Given the description of an element on the screen output the (x, y) to click on. 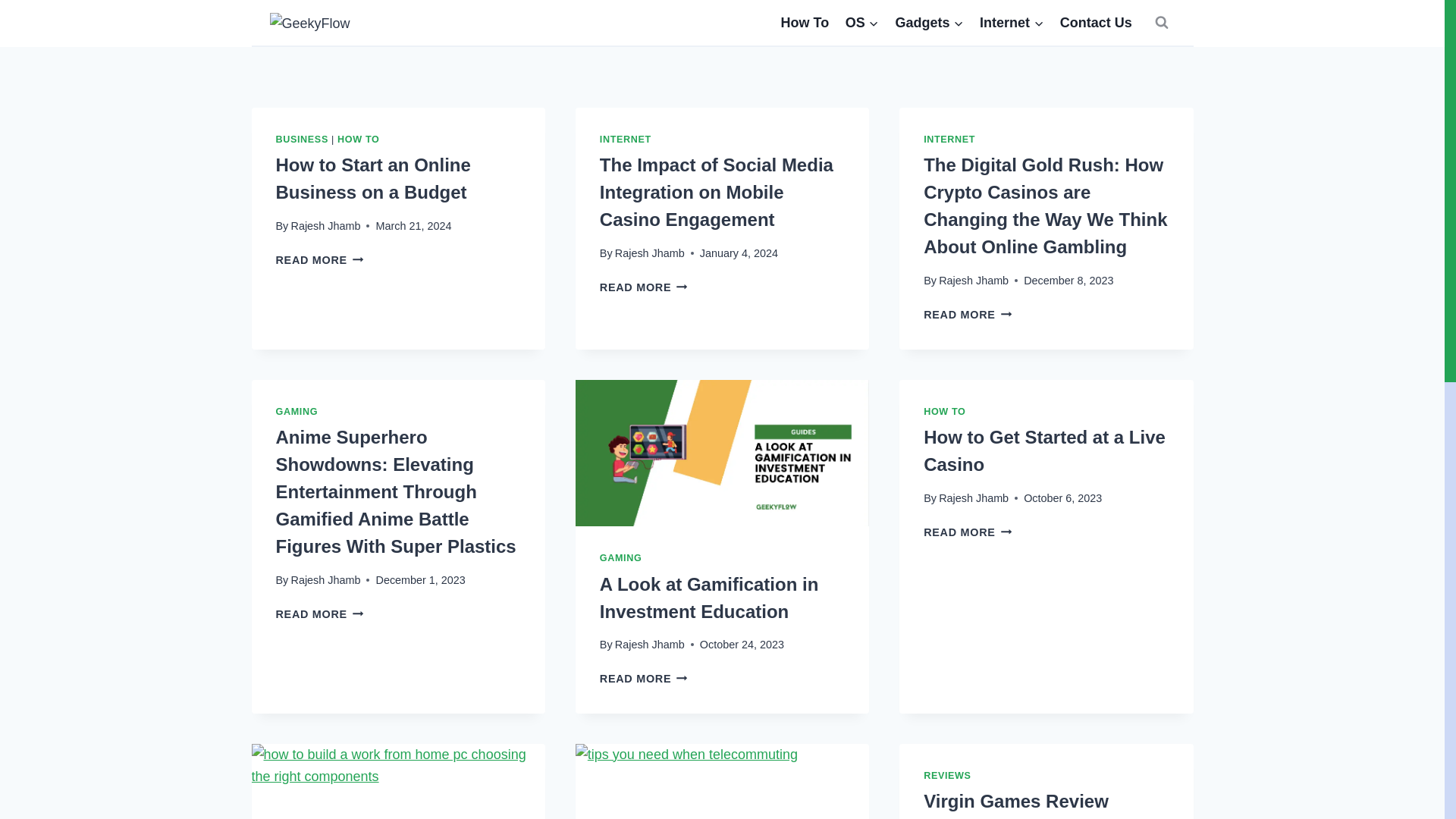
How to Start an Online Business on a Budget (373, 178)
BUSINESS (302, 139)
HOW TO (357, 139)
Rajesh Jhamb (324, 225)
How To (805, 22)
Rajesh Jhamb (649, 253)
INTERNET (949, 139)
OS (861, 22)
Internet (1011, 22)
INTERNET (624, 139)
Rajesh Jhamb (320, 259)
Contact Us (974, 280)
